Given the description of an element on the screen output the (x, y) to click on. 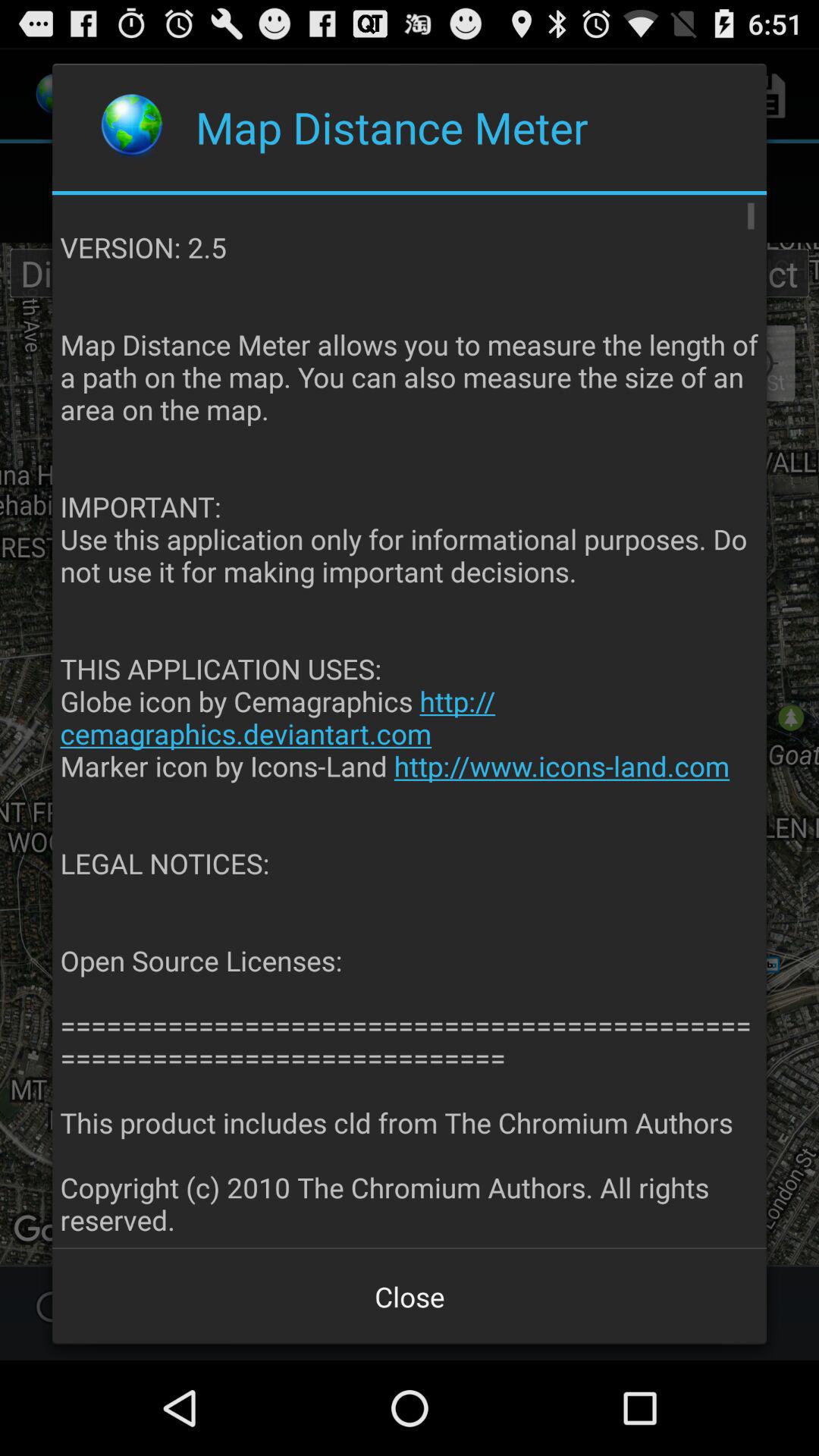
scroll to the version 2 5 app (410, 721)
